Given the description of an element on the screen output the (x, y) to click on. 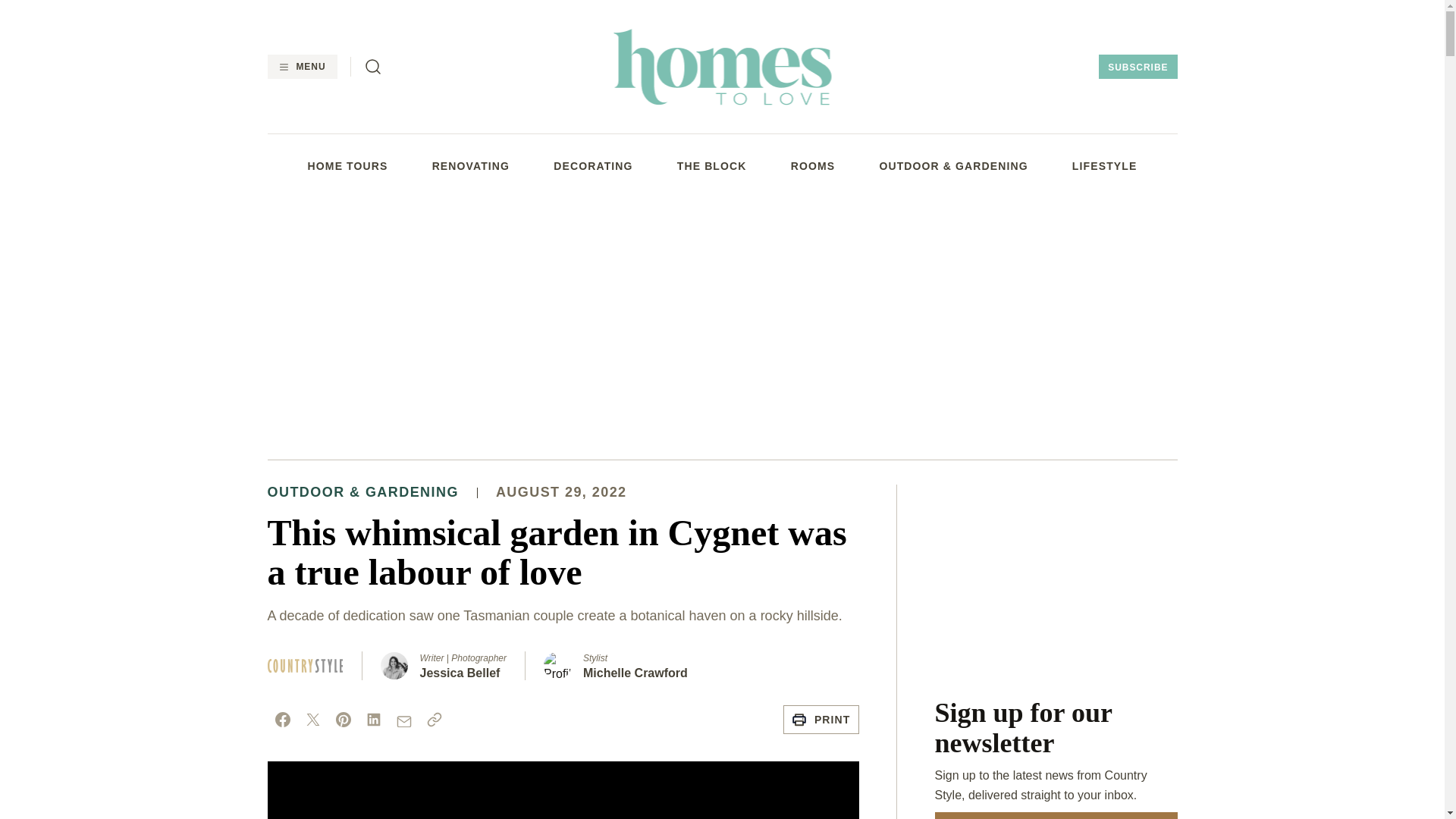
RENOVATING (470, 165)
THE BLOCK (711, 165)
3rd party ad content (1055, 579)
HOME TOURS (347, 165)
ROOMS (812, 165)
SUBSCRIBE (1137, 66)
3rd party ad content (721, 325)
DECORATING (592, 165)
MENU (301, 66)
LIFESTYLE (1104, 165)
